Given the description of an element on the screen output the (x, y) to click on. 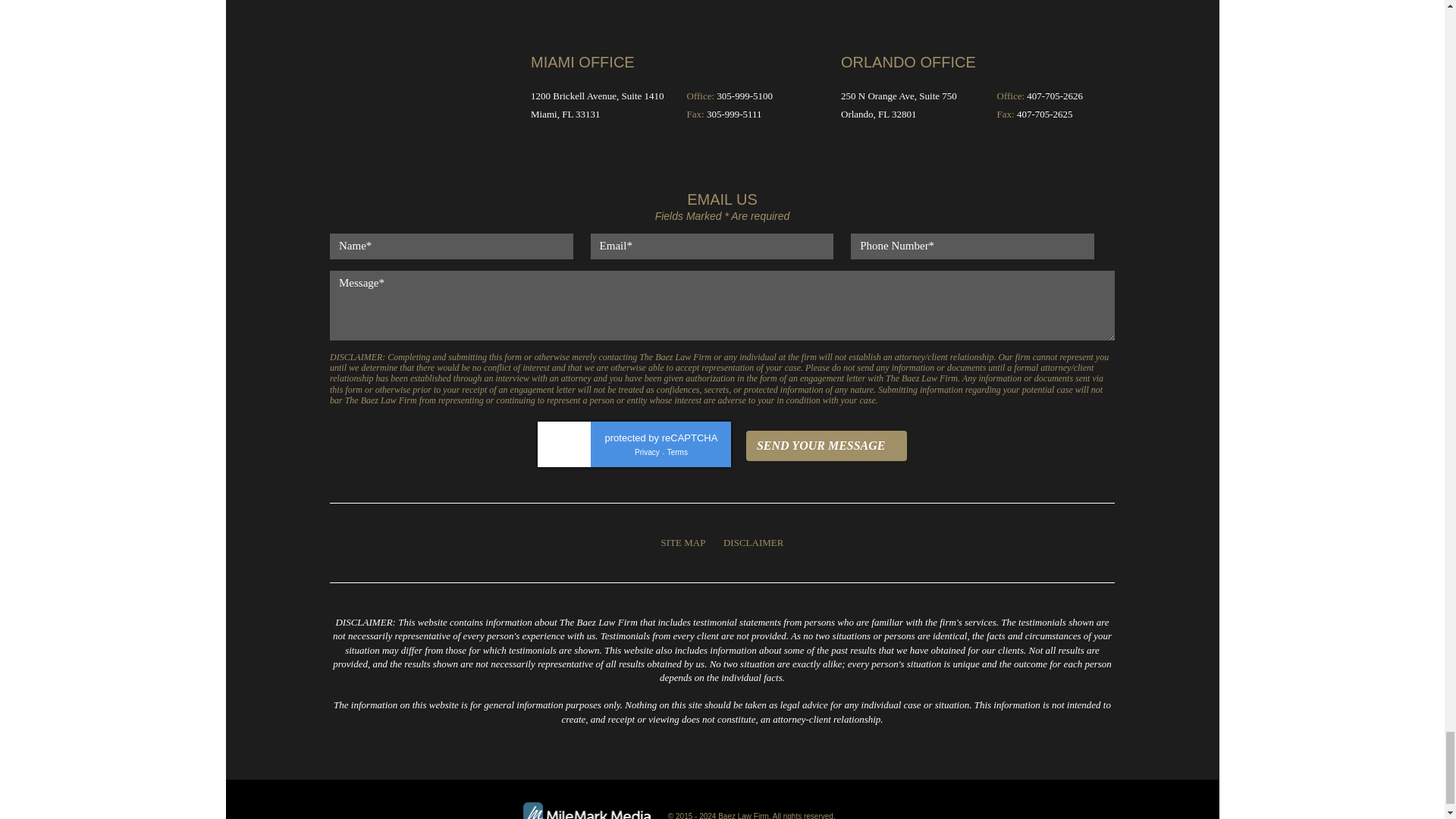
Send Your Message (826, 445)
